Given the description of an element on the screen output the (x, y) to click on. 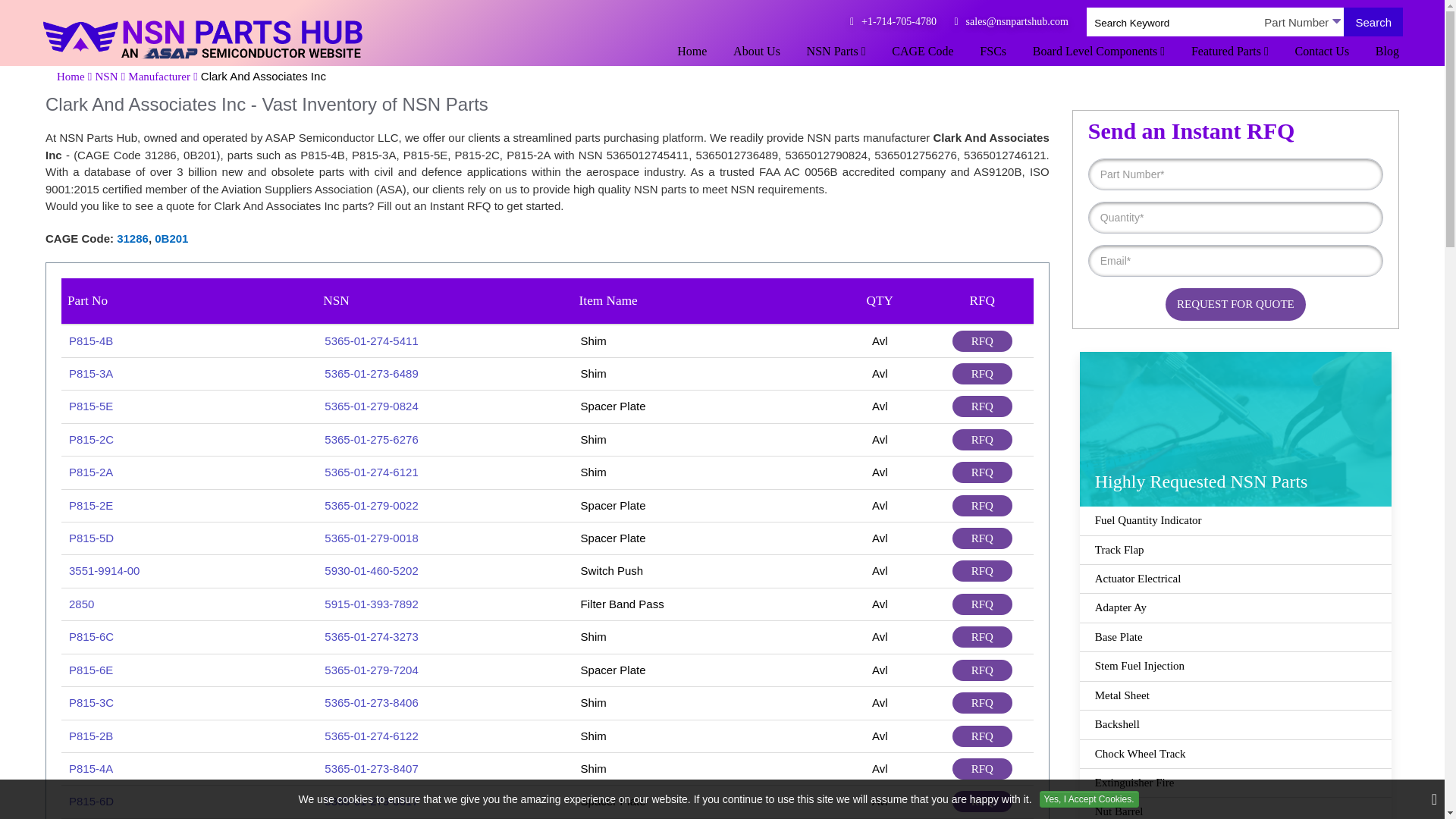
Featured Parts (1230, 55)
FSCs (992, 55)
5365-01-273-6489 (370, 373)
RFQ (981, 341)
31286 (132, 237)
CAGE Code (922, 55)
Board Level Components (1099, 55)
Search (1373, 21)
Manufacturer (159, 76)
About Us (756, 55)
